Given the description of an element on the screen output the (x, y) to click on. 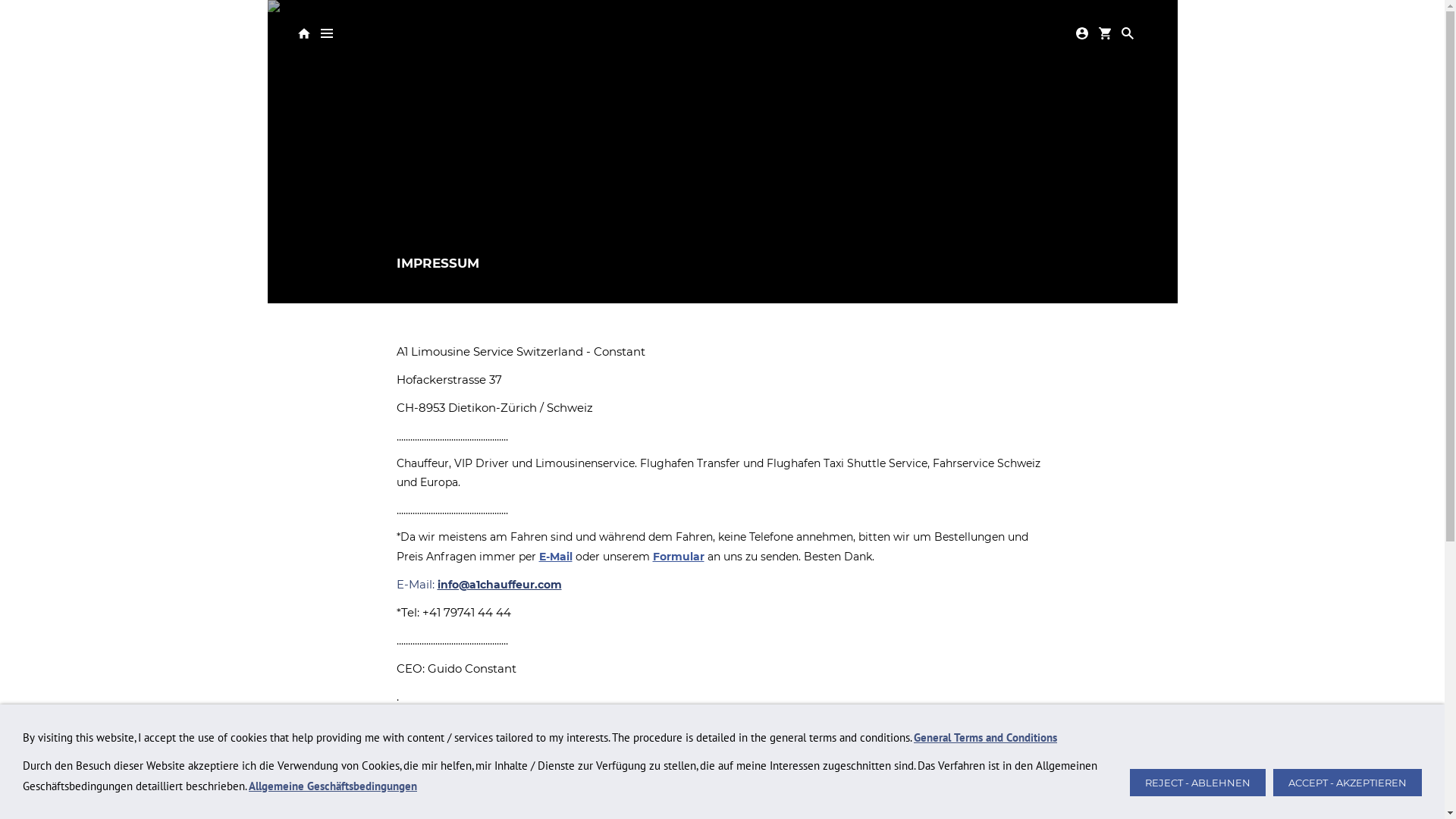
General Terms and Conditions Element type: text (985, 737)
ACCEPT - AKZEPTIEREN Element type: text (1347, 782)
Formular Element type: text (677, 555)
info@a1chauffeur.com Element type: text (498, 584)
REJECT - ABLEHNEN Element type: text (1197, 782)
E-Mail Element type: text (554, 555)
